Given the description of an element on the screen output the (x, y) to click on. 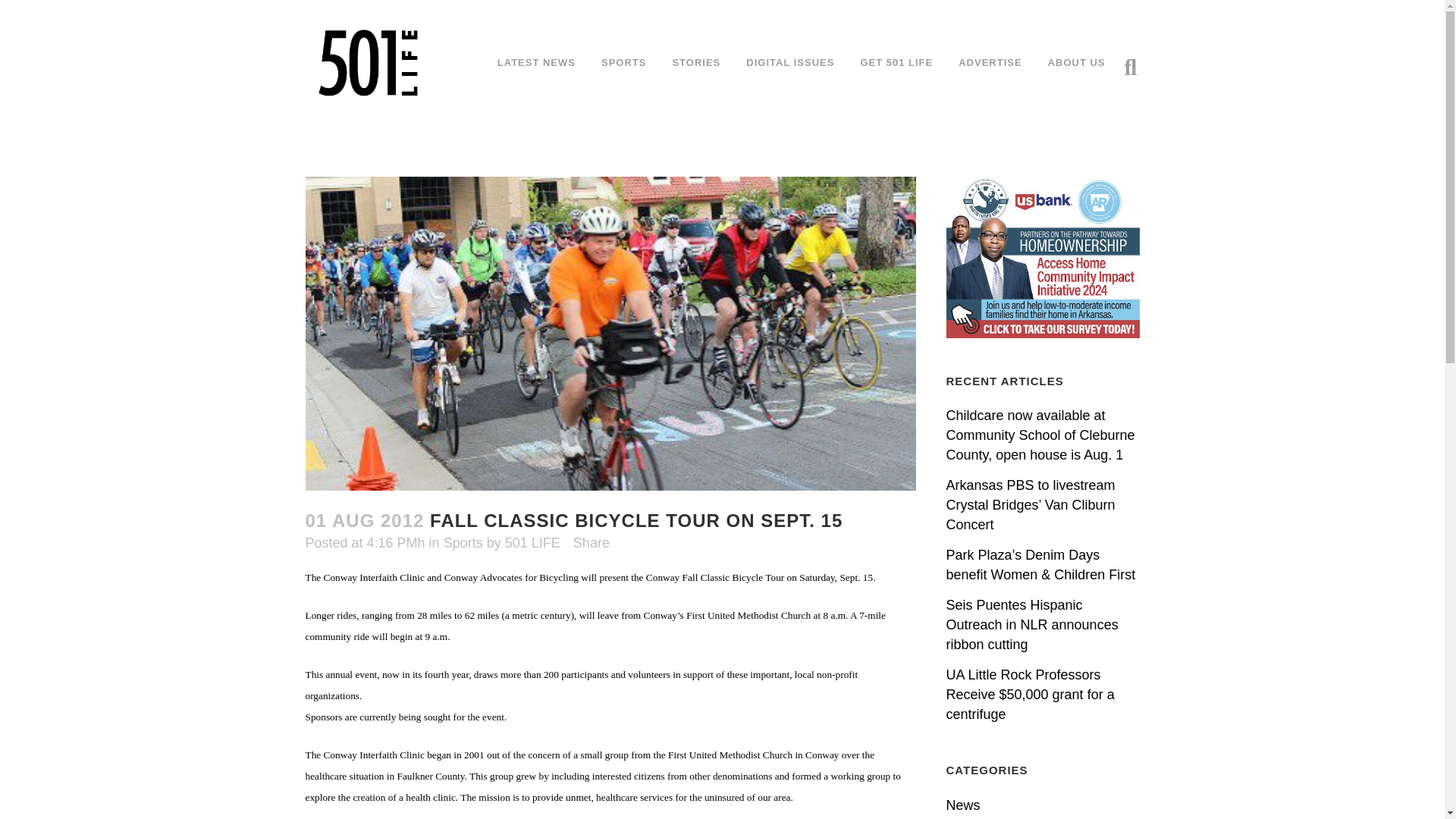
SPORTS (623, 62)
LATEST NEWS (536, 62)
ADVERTISE (988, 62)
STORIES (696, 62)
DIGITAL ISSUES (790, 62)
GET 501 LIFE (895, 62)
ABOUT US (1076, 62)
